Given the description of an element on the screen output the (x, y) to click on. 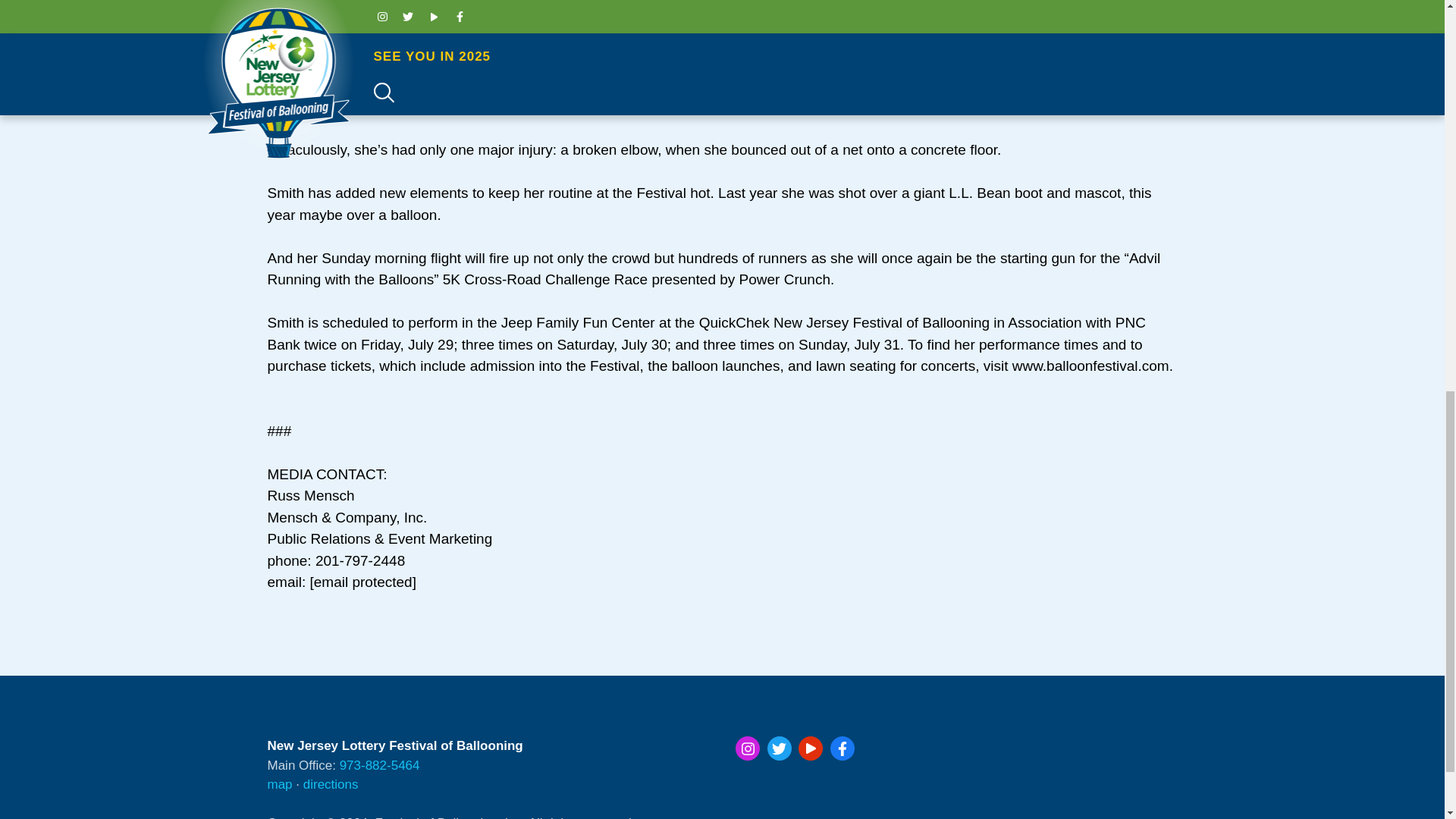
map (279, 784)
directions (330, 784)
973-882-5464 (379, 765)
